Given the description of an element on the screen output the (x, y) to click on. 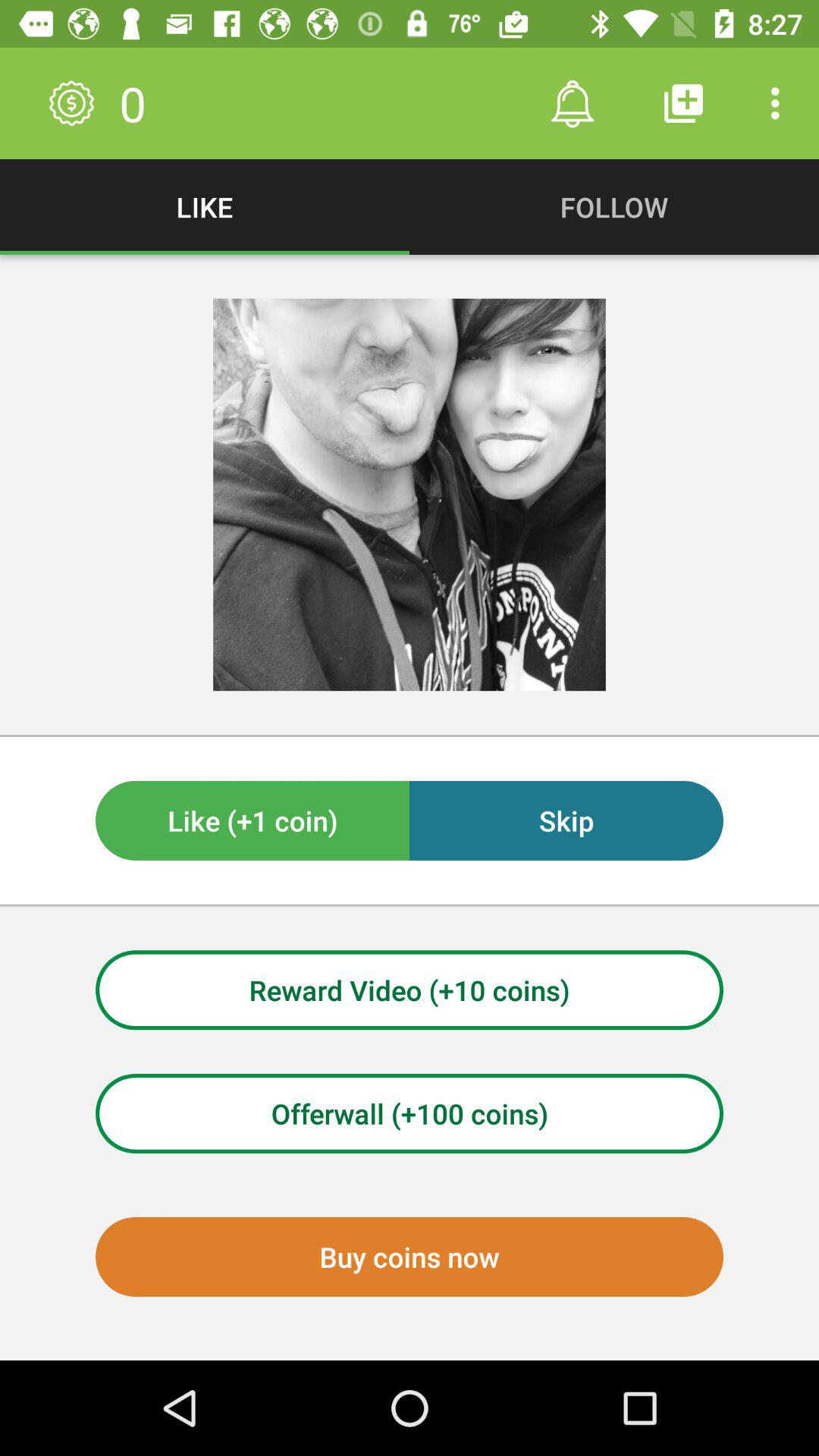
launch the reward video 10 icon (409, 990)
